Given the description of an element on the screen output the (x, y) to click on. 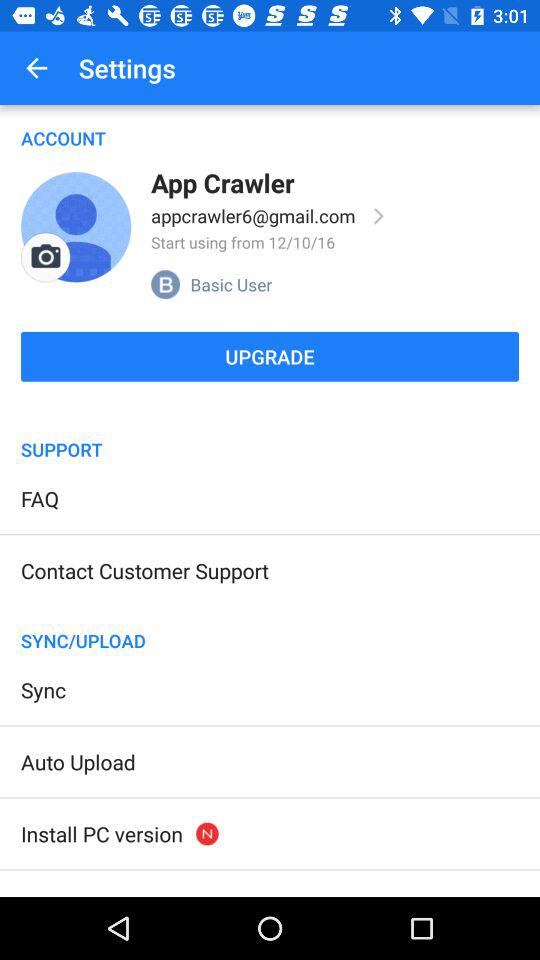
next (379, 215)
